Given the description of an element on the screen output the (x, y) to click on. 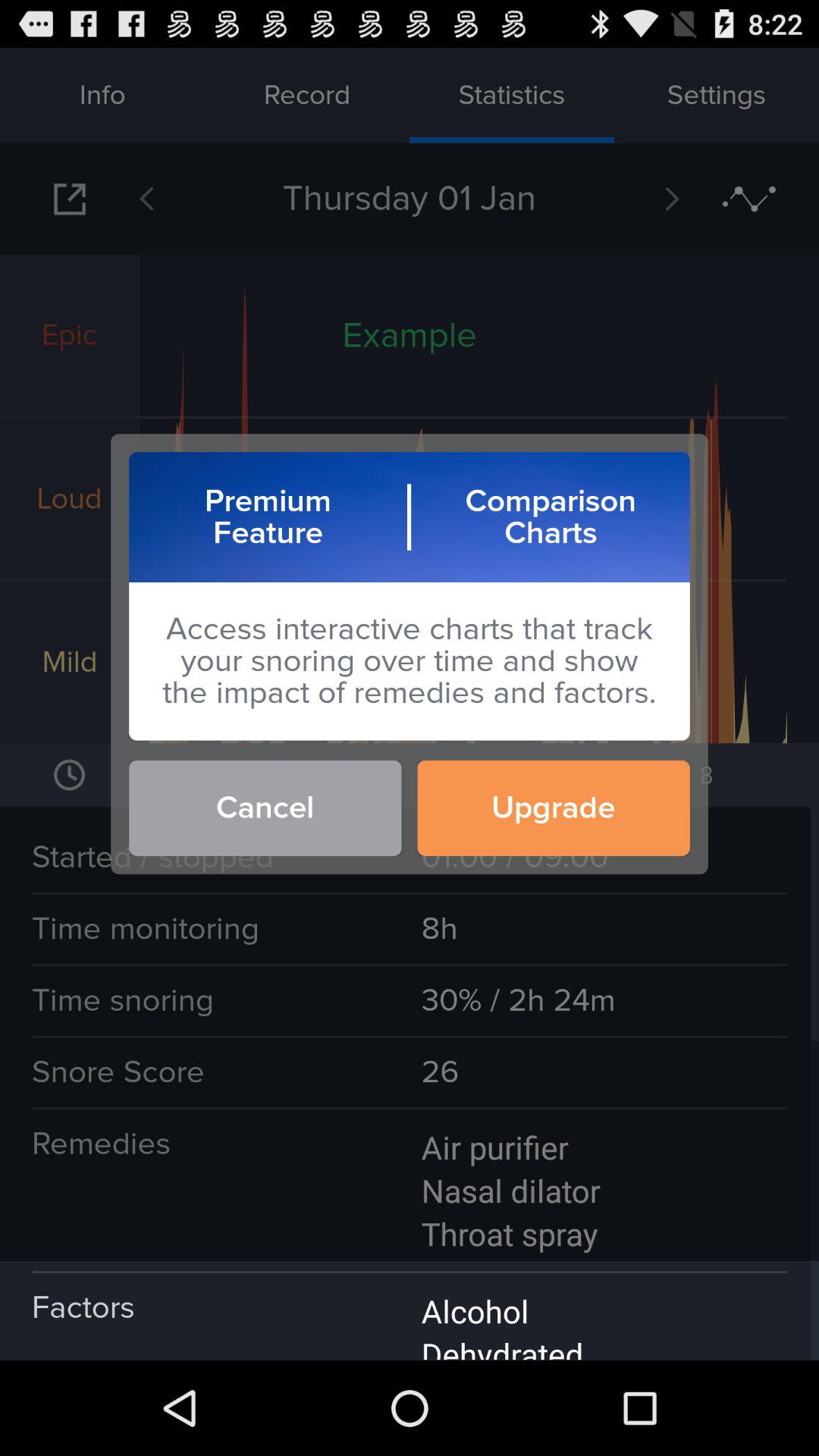
swipe until the upgrade icon (553, 807)
